Given the description of an element on the screen output the (x, y) to click on. 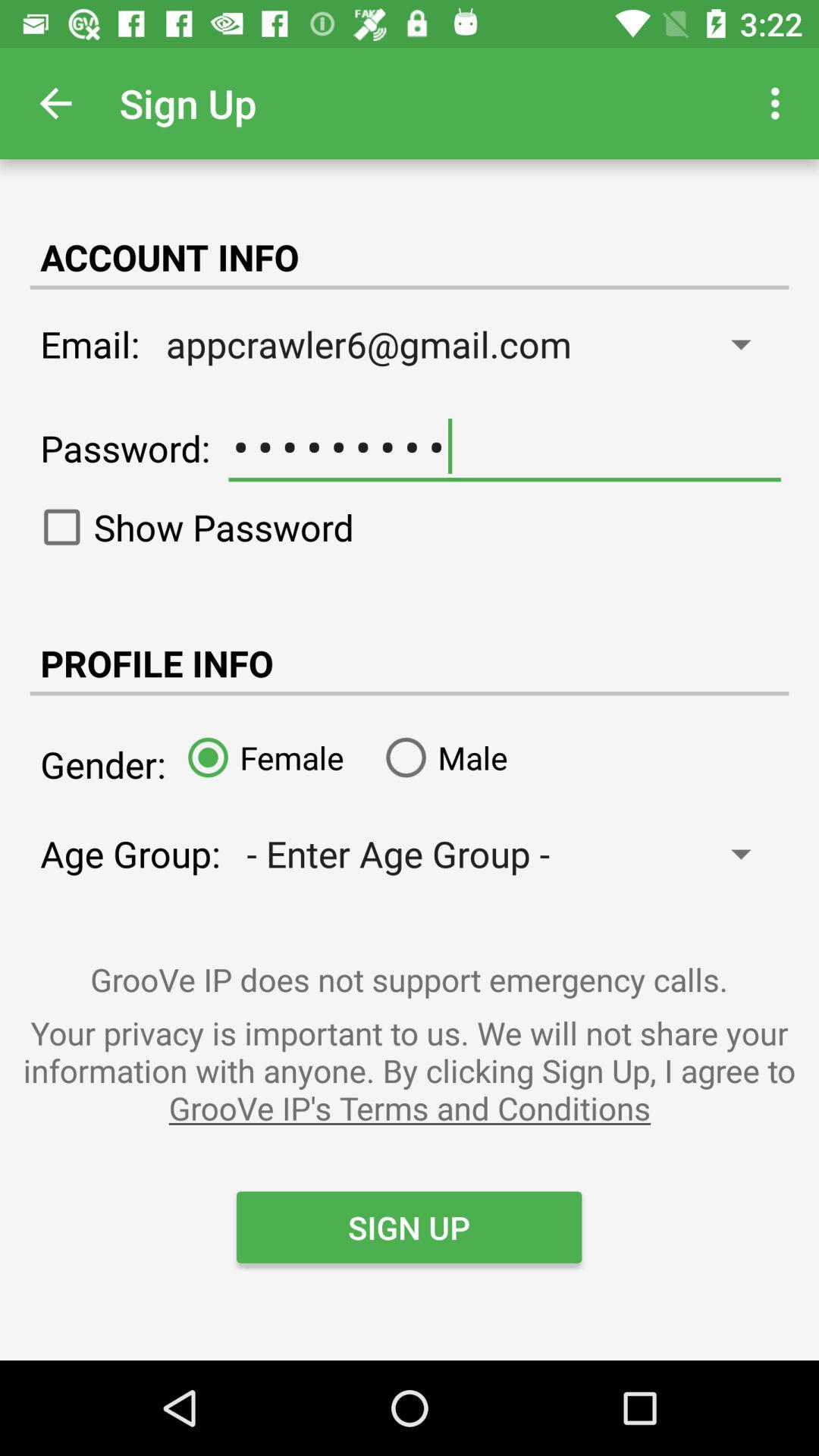
turn on the app to the right of the sign up app (779, 103)
